Given the description of an element on the screen output the (x, y) to click on. 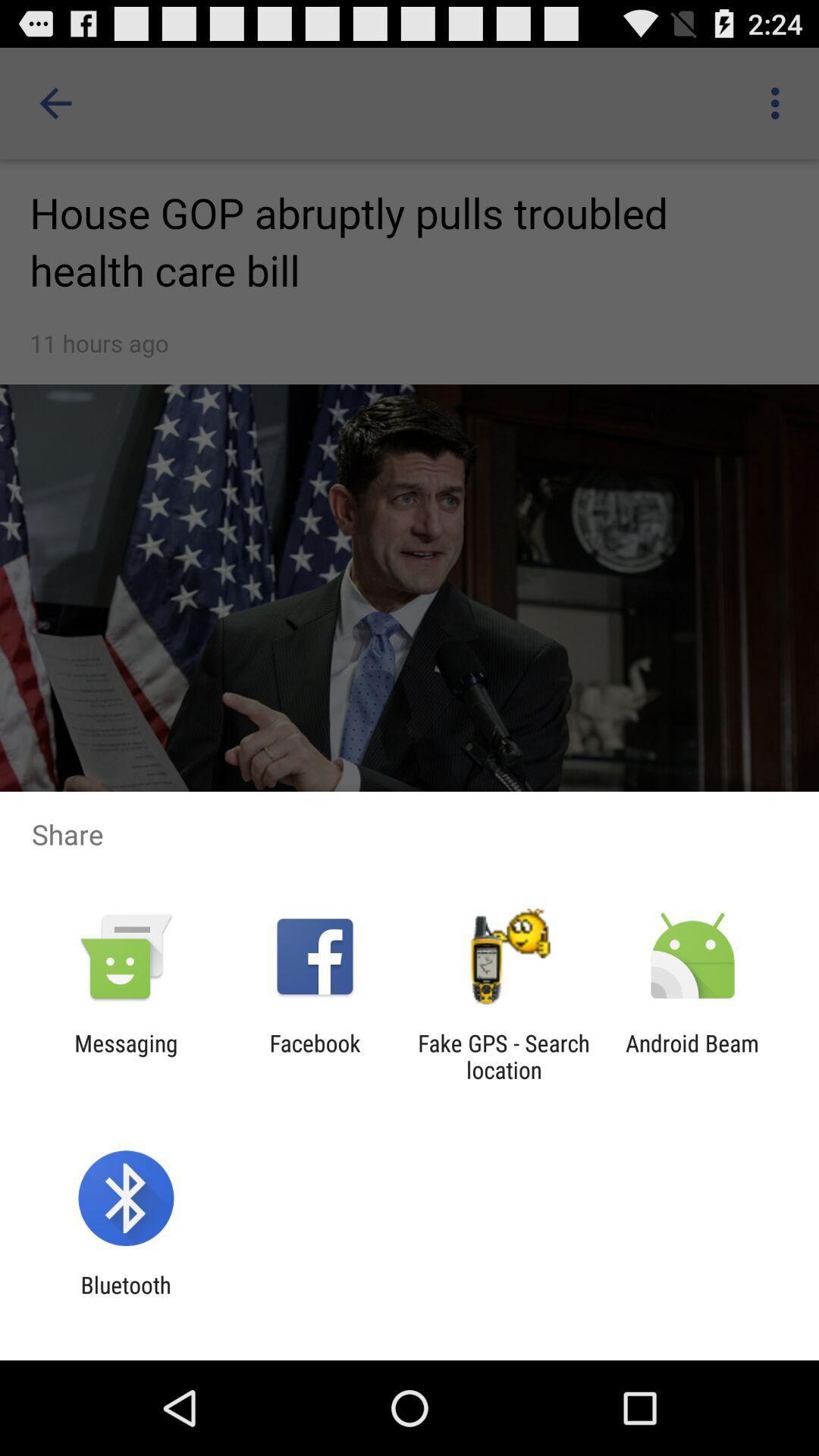
click the bluetooth icon (125, 1298)
